Given the description of an element on the screen output the (x, y) to click on. 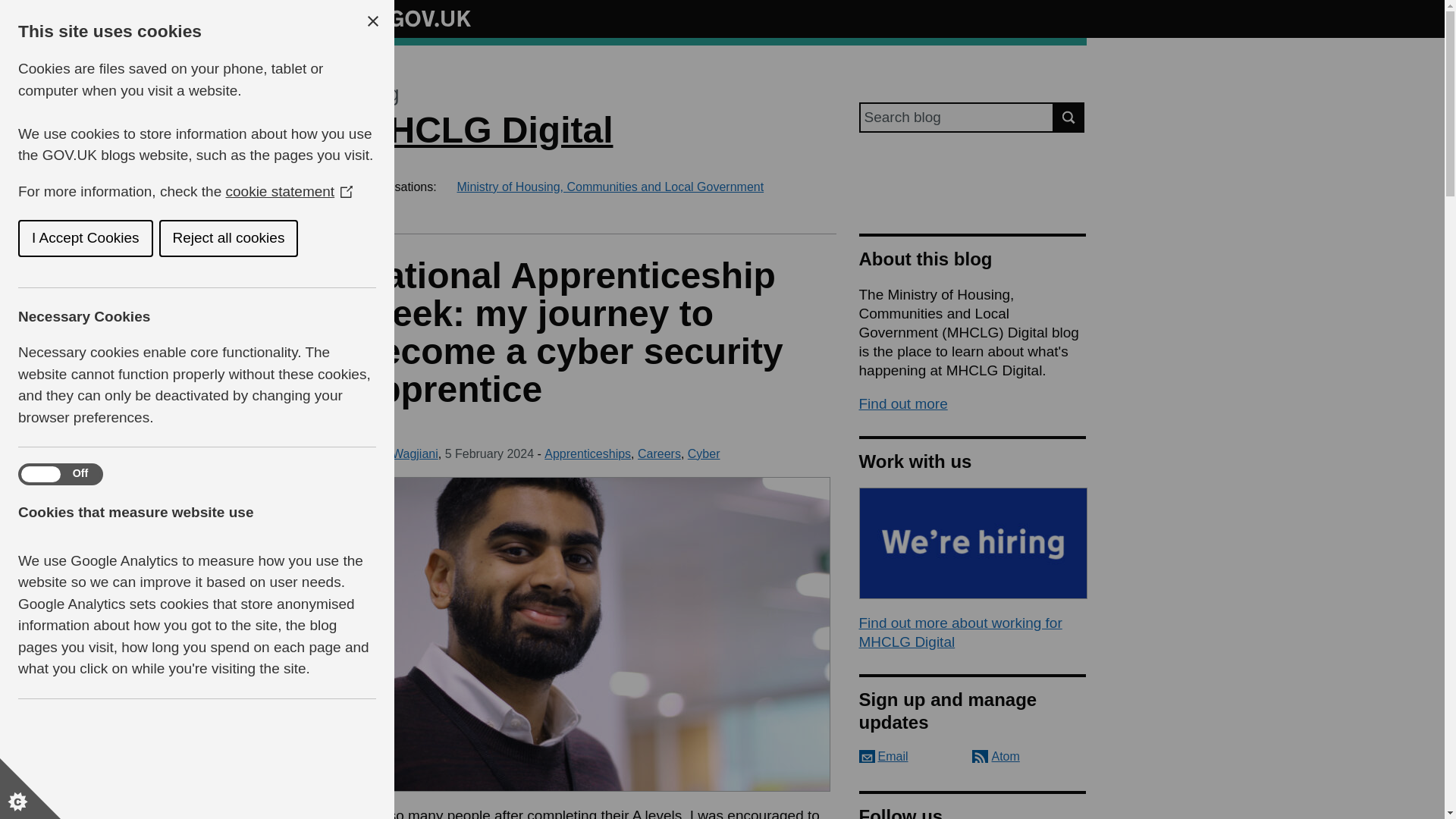
Posts by Tarun Wagjiani (398, 453)
GOV.UK (414, 18)
GOV.UK (414, 15)
Careers (659, 453)
Email (883, 756)
Tarun Wagjiani (398, 453)
Search (1069, 117)
Reject all cookies (88, 238)
Ministry of Housing, Communities and Local Government (609, 186)
Blog (378, 93)
